Given the description of an element on the screen output the (x, y) to click on. 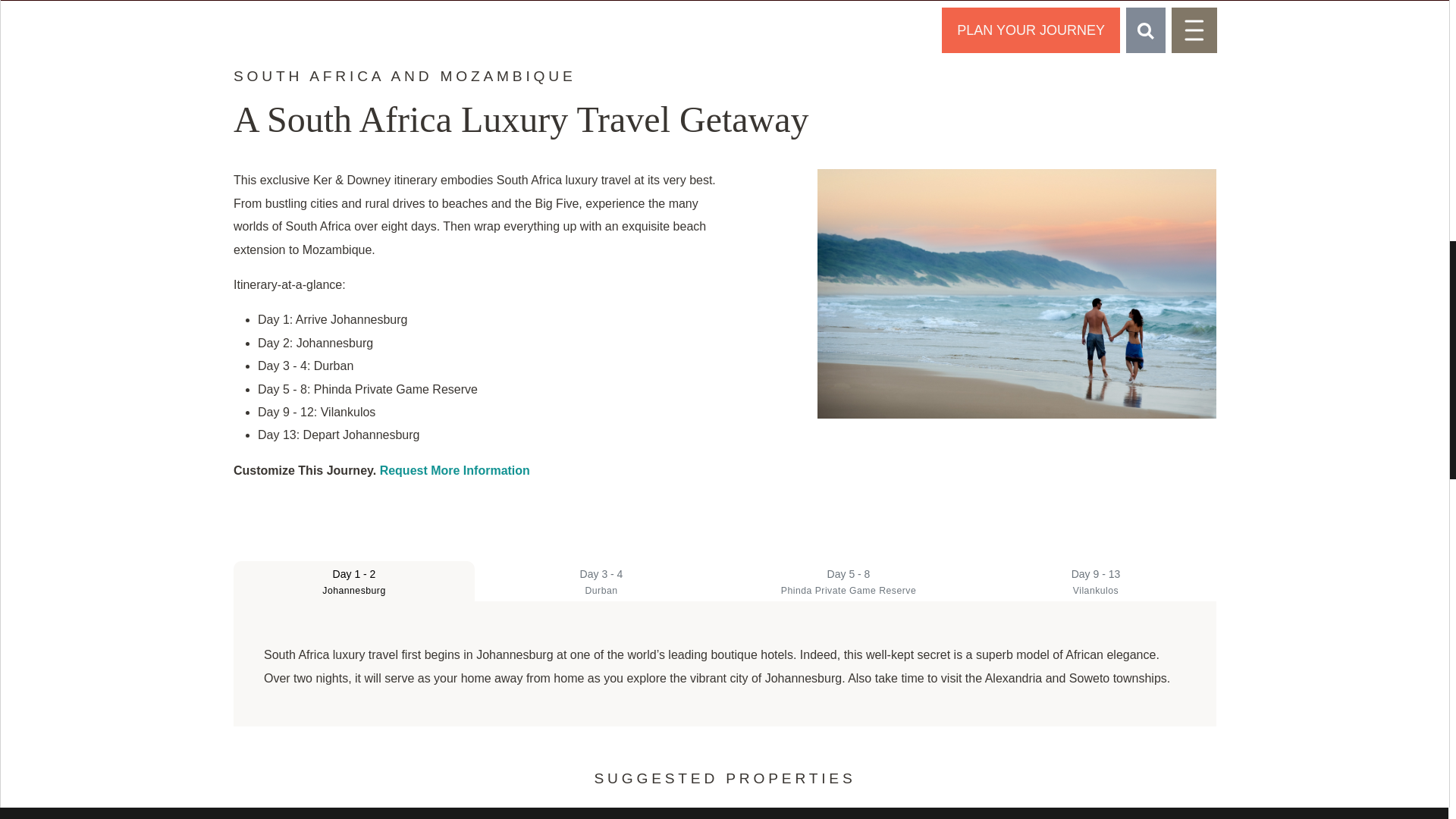
Request More Information (454, 470)
